Given the description of an element on the screen output the (x, y) to click on. 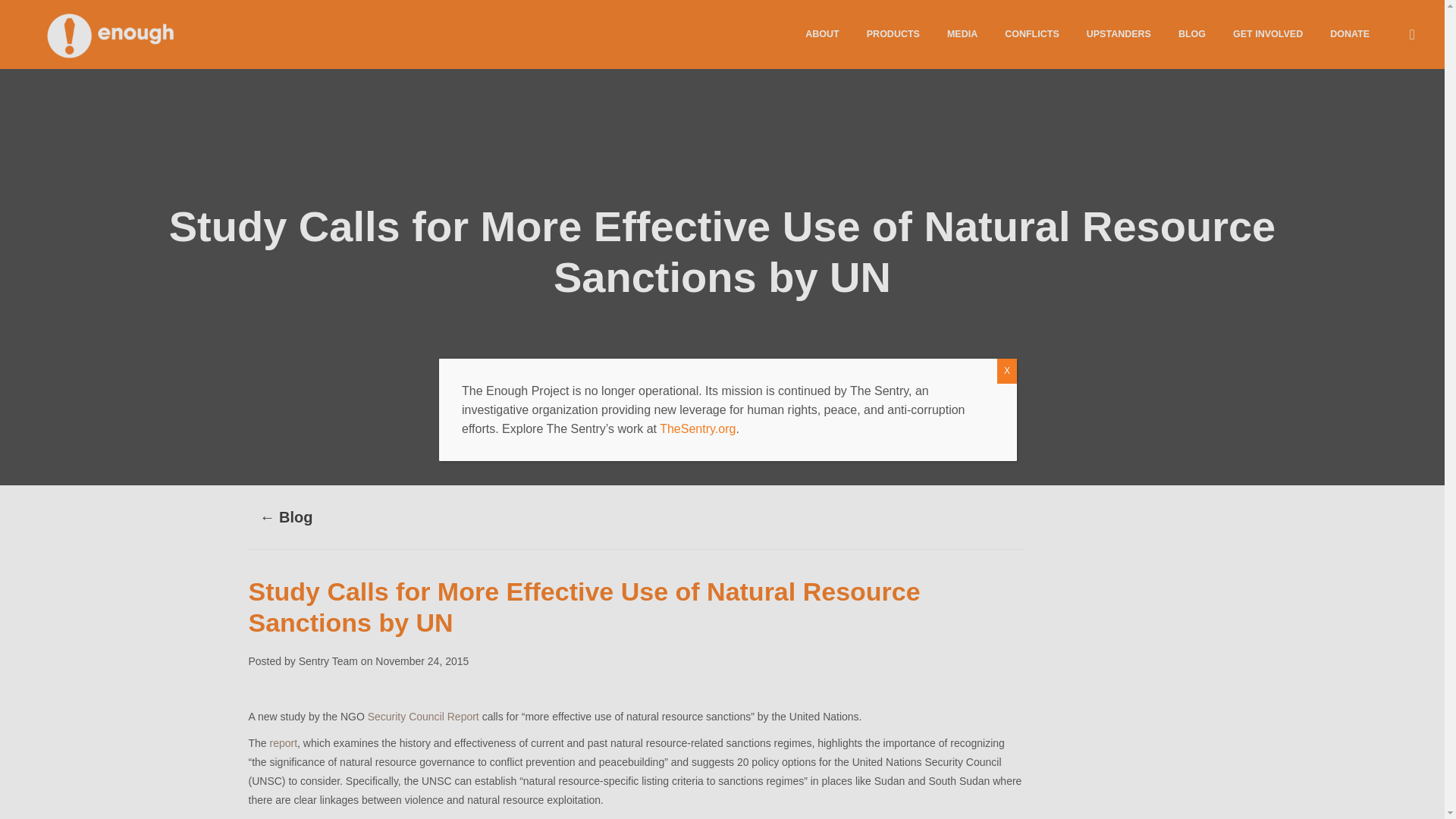
CONFLICTS (1032, 33)
ABOUT (821, 33)
PRODUCTS (893, 33)
UPSTANDERS (1118, 33)
GET INVOLVED (1268, 33)
